Given the description of an element on the screen output the (x, y) to click on. 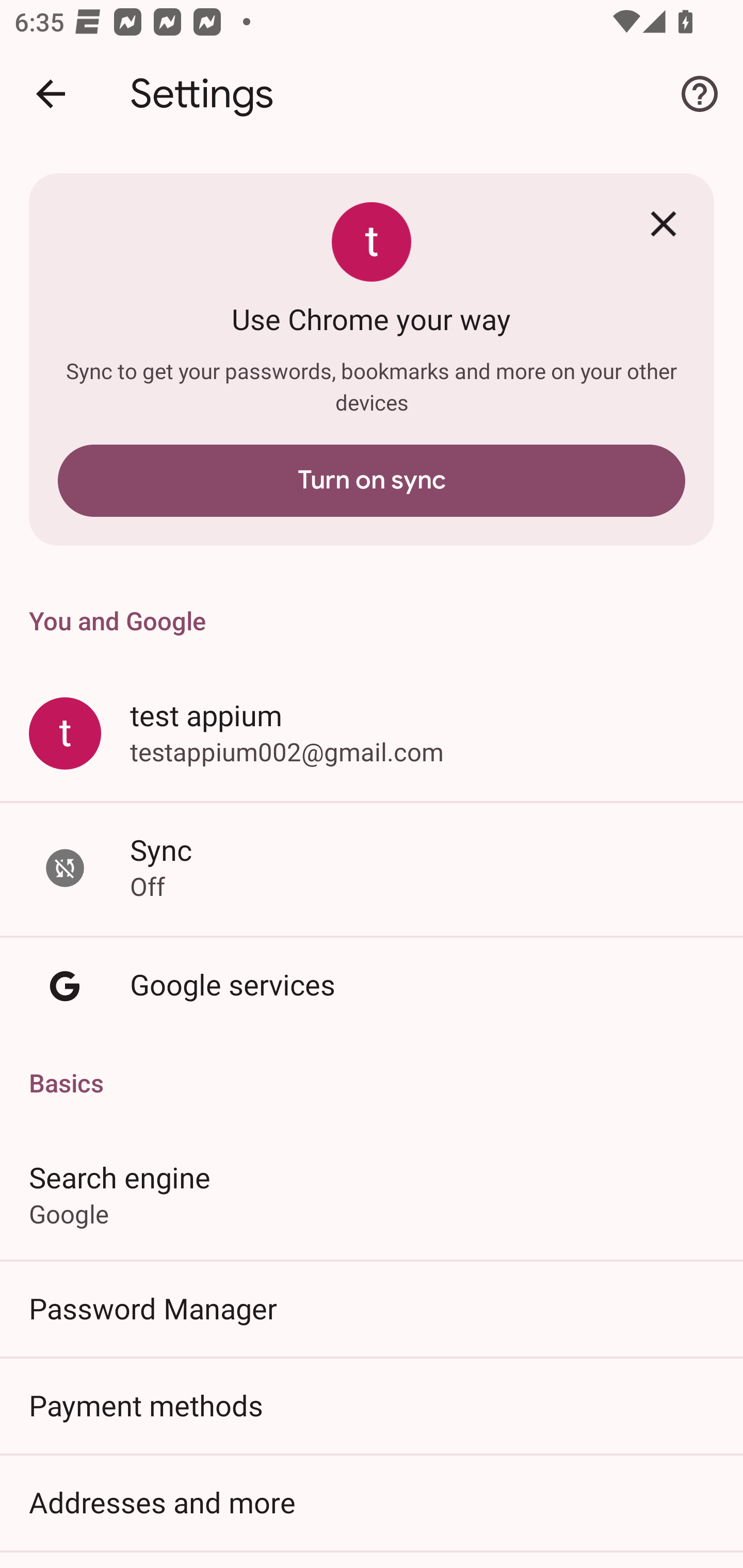
Navigate up (50, 93)
Help & feedback (699, 93)
Close (663, 223)
Turn on sync (371, 480)
test appium testappium002@gmail.com (371, 733)
Sync Off (371, 868)
Google services (371, 986)
Search engine Google (371, 1193)
Password Manager (371, 1307)
Payment methods (371, 1404)
Addresses and more (371, 1501)
